Given the description of an element on the screen output the (x, y) to click on. 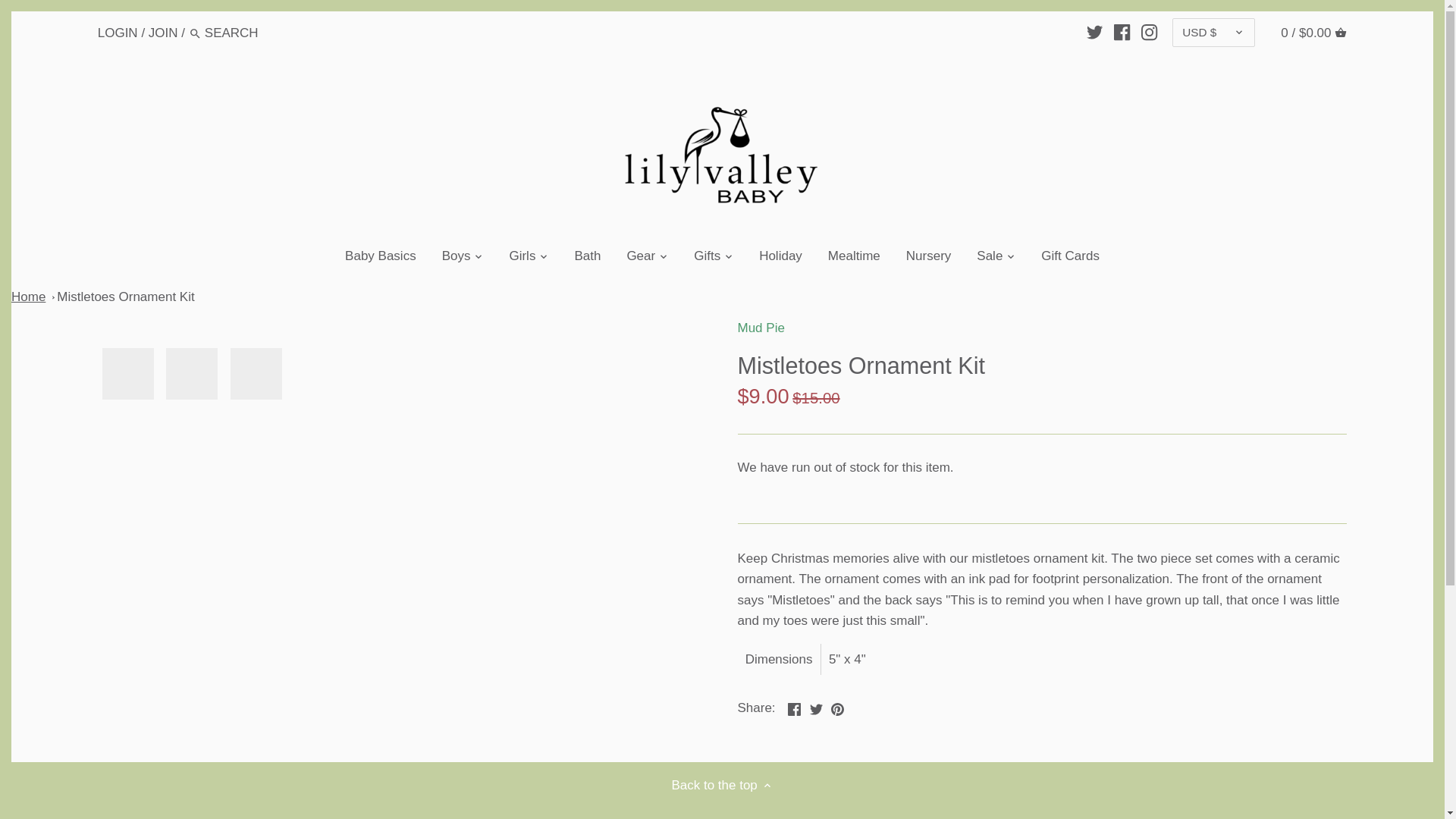
FACEBOOK (1121, 32)
JOIN (162, 32)
Search (195, 33)
TWITTER (1094, 32)
INSTAGRAM (1149, 32)
Pinterest (837, 708)
Facebook (793, 708)
LOGIN (117, 32)
CART (1340, 32)
Twitter (815, 708)
